Given the description of an element on the screen output the (x, y) to click on. 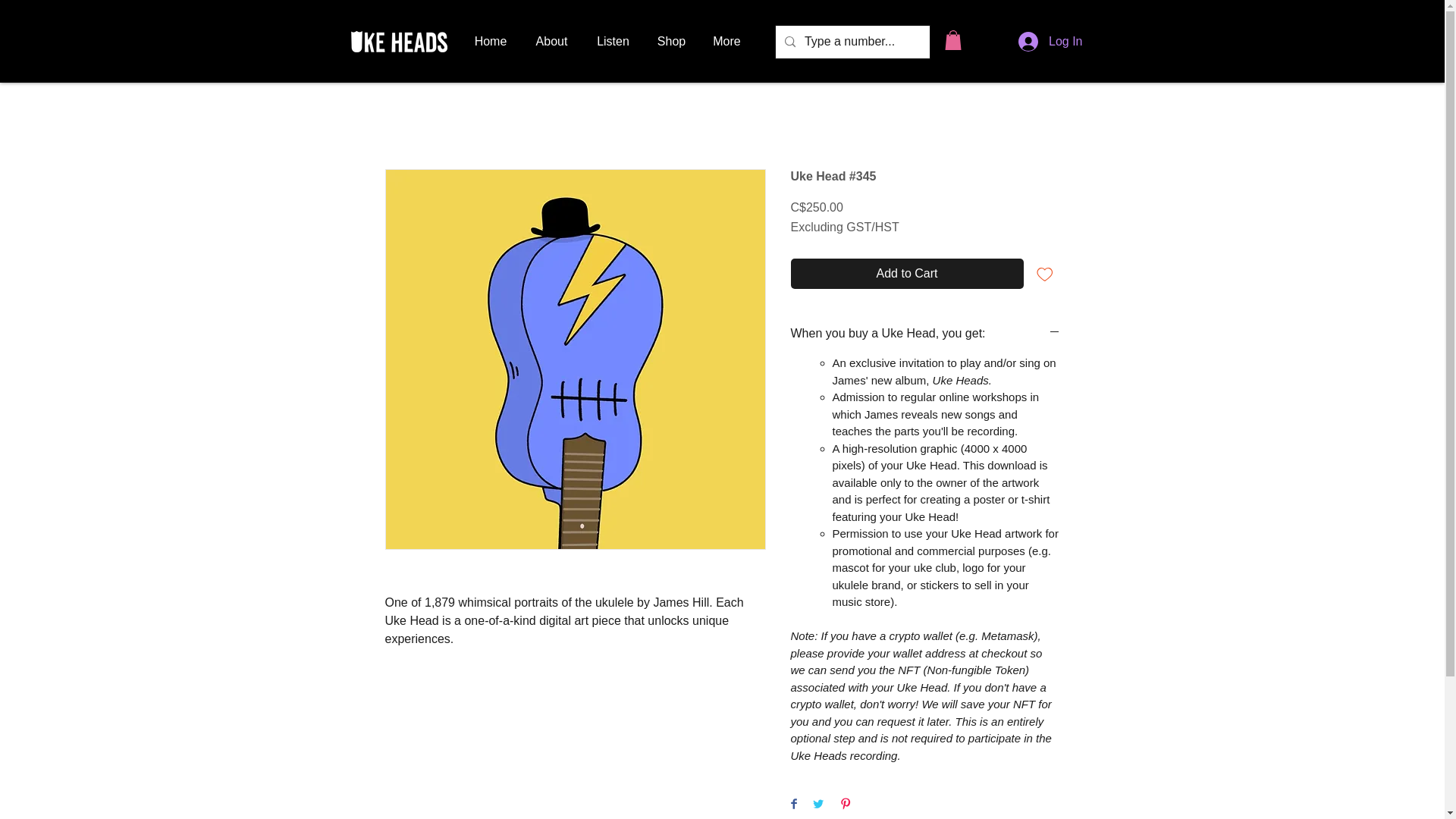
Home (491, 41)
Add to Cart (906, 273)
About (550, 41)
Listen (612, 41)
When you buy a Uke Head, you get: (924, 333)
Log In (1050, 41)
Shop (670, 41)
